Given the description of an element on the screen output the (x, y) to click on. 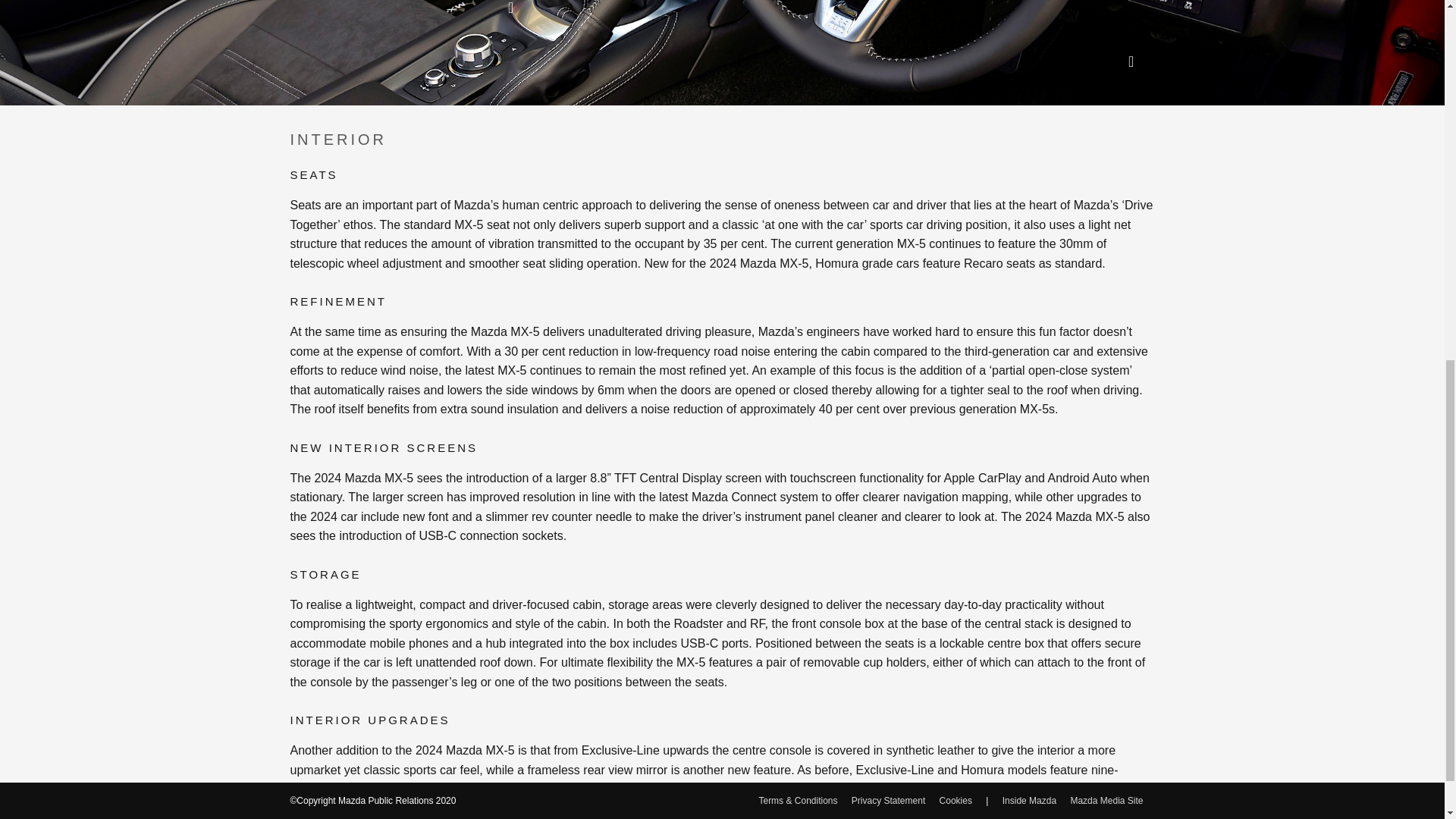
Privacy Statement (887, 121)
